Given the description of an element on the screen output the (x, y) to click on. 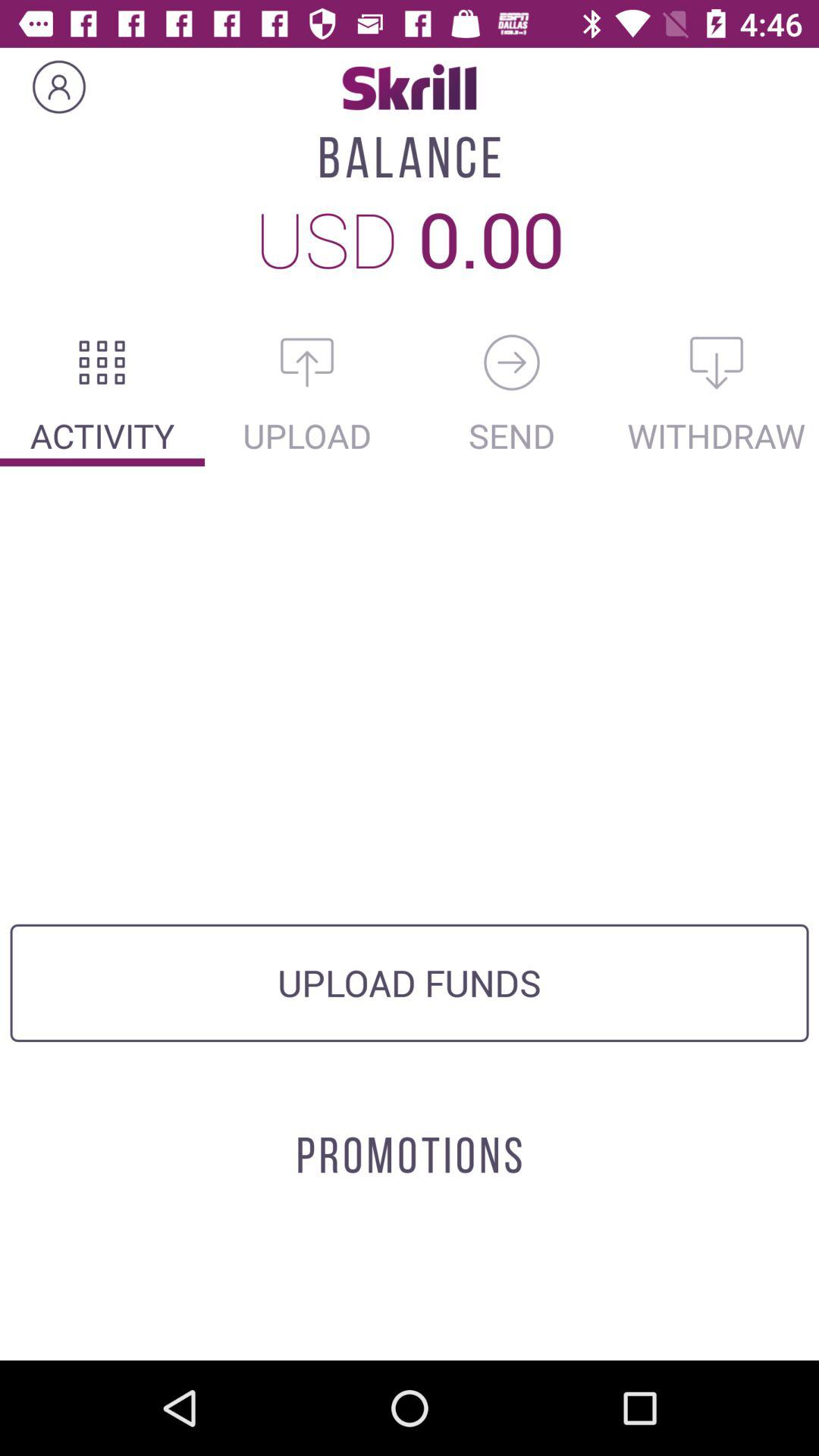
go to activity (102, 362)
